Given the description of an element on the screen output the (x, y) to click on. 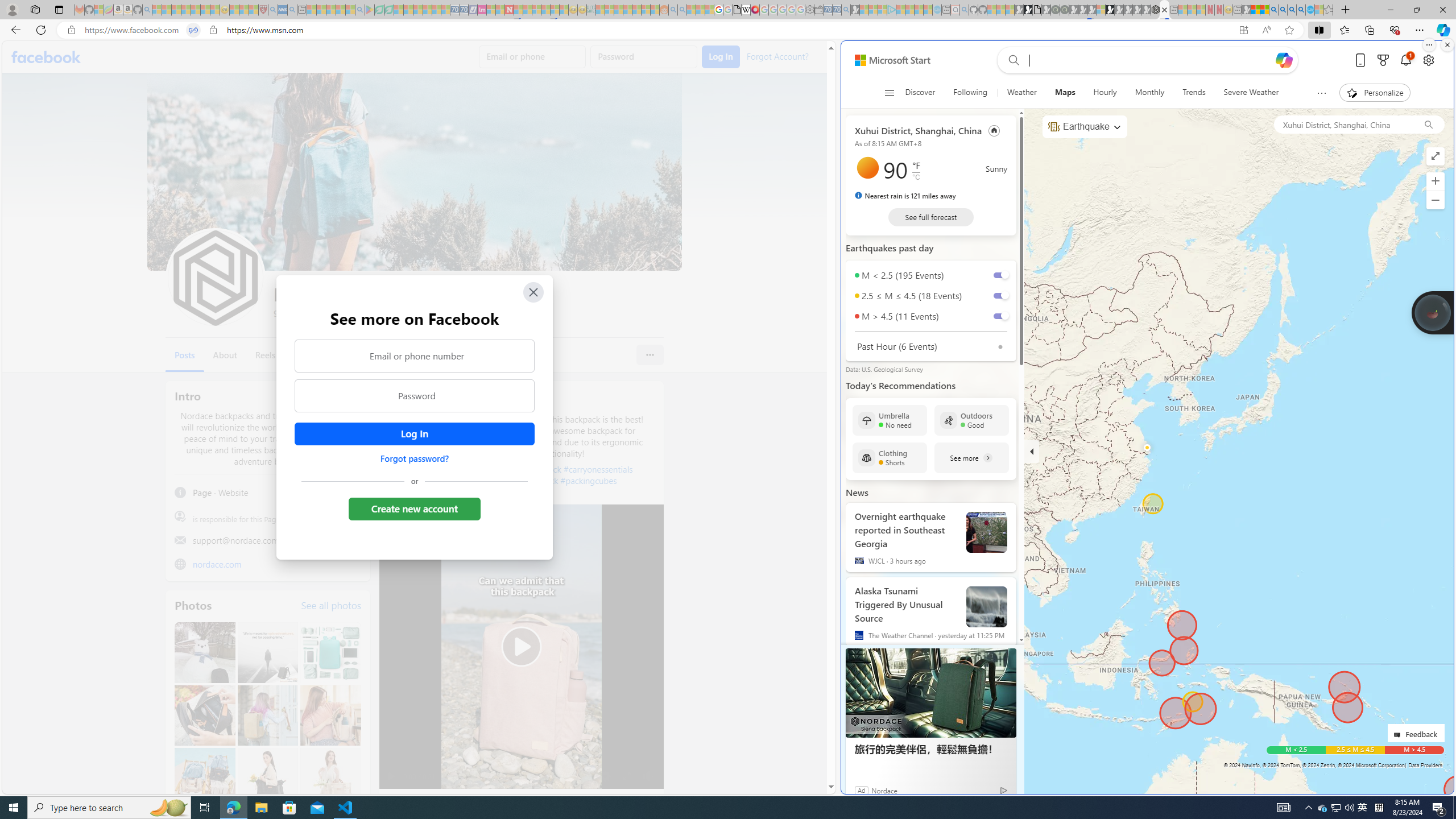
MediaWiki (754, 9)
Back (13, 29)
Web search (1011, 60)
Home | Sky Blue Bikes - Sky Blue Bikes - Sleeping (936, 9)
Play Zoo Boom in your browser | Games from Microsoft Start (1027, 9)
Settings - Sleeping (809, 9)
Recipes - MSN - Sleeping (234, 9)
Jobs - lastminute.com Investor Portal - Sleeping (482, 9)
Severe Weather (1251, 92)
